Given the description of an element on the screen output the (x, y) to click on. 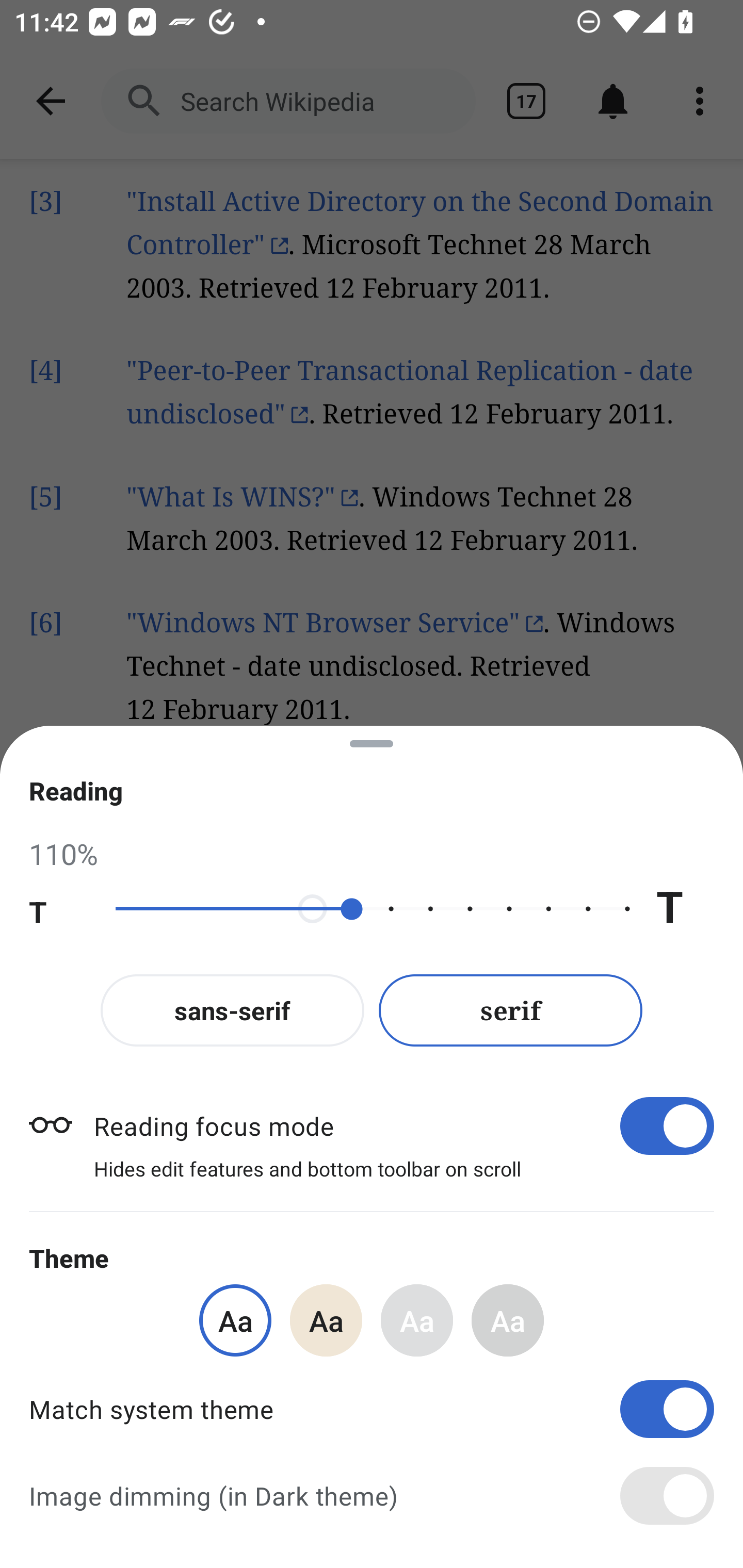
T Decrease text size (57, 909)
T Increase text size (685, 909)
sans-serif (232, 1010)
serif (510, 1010)
Reading focus mode (403, 1125)
Aa (235, 1320)
Aa (325, 1320)
Aa (416, 1320)
Aa (507, 1320)
Match system theme (371, 1408)
Image dimming (in Dark theme) (371, 1495)
